Given the description of an element on the screen output the (x, y) to click on. 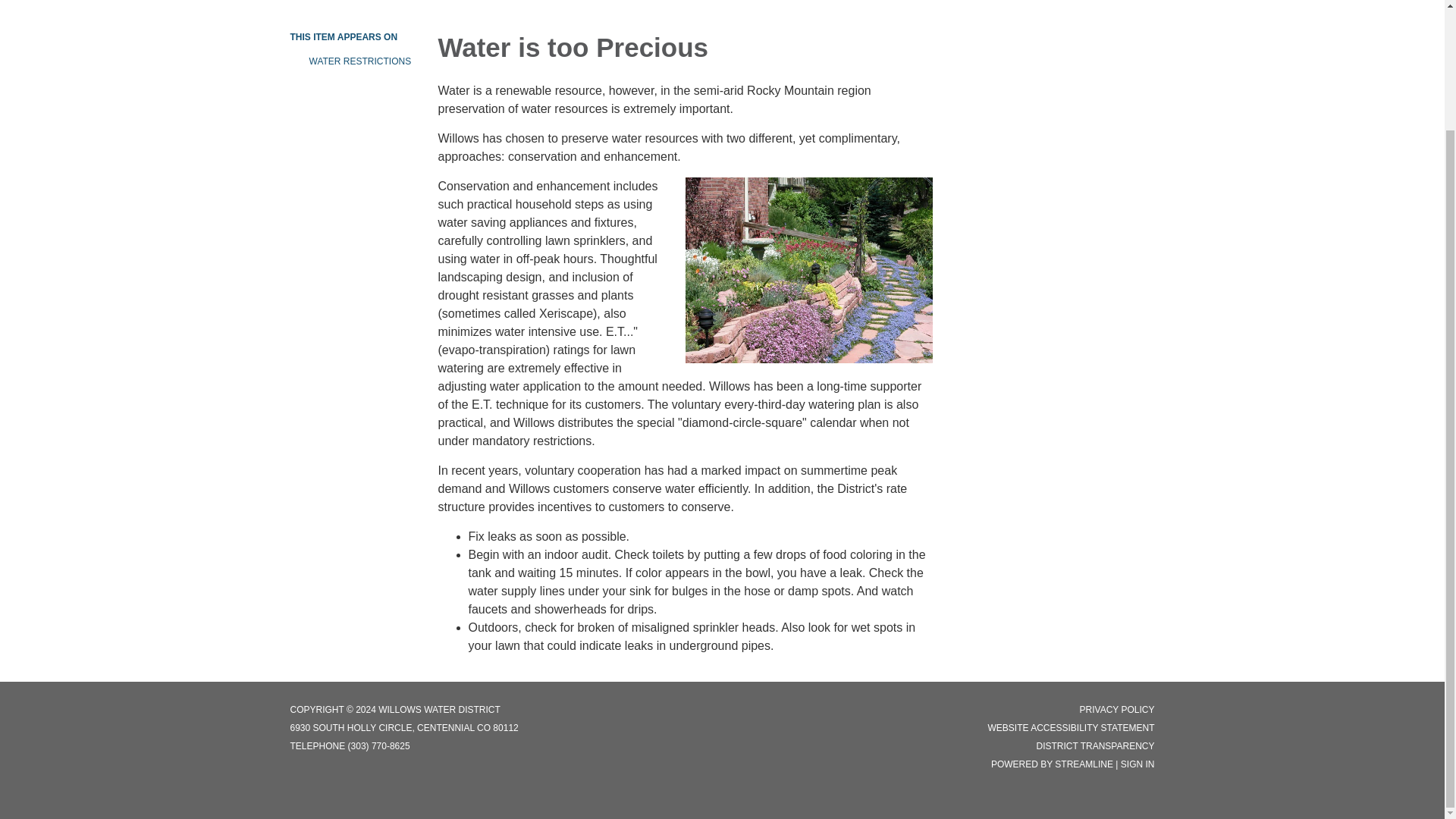
Special District Transparency Report (1094, 746)
Home (317, 1)
Streamline: Technology for Special Districts (1083, 764)
District Information (495, 1)
Resources (607, 1)
Contact Us (700, 1)
About Us (386, 1)
